Given the description of an element on the screen output the (x, y) to click on. 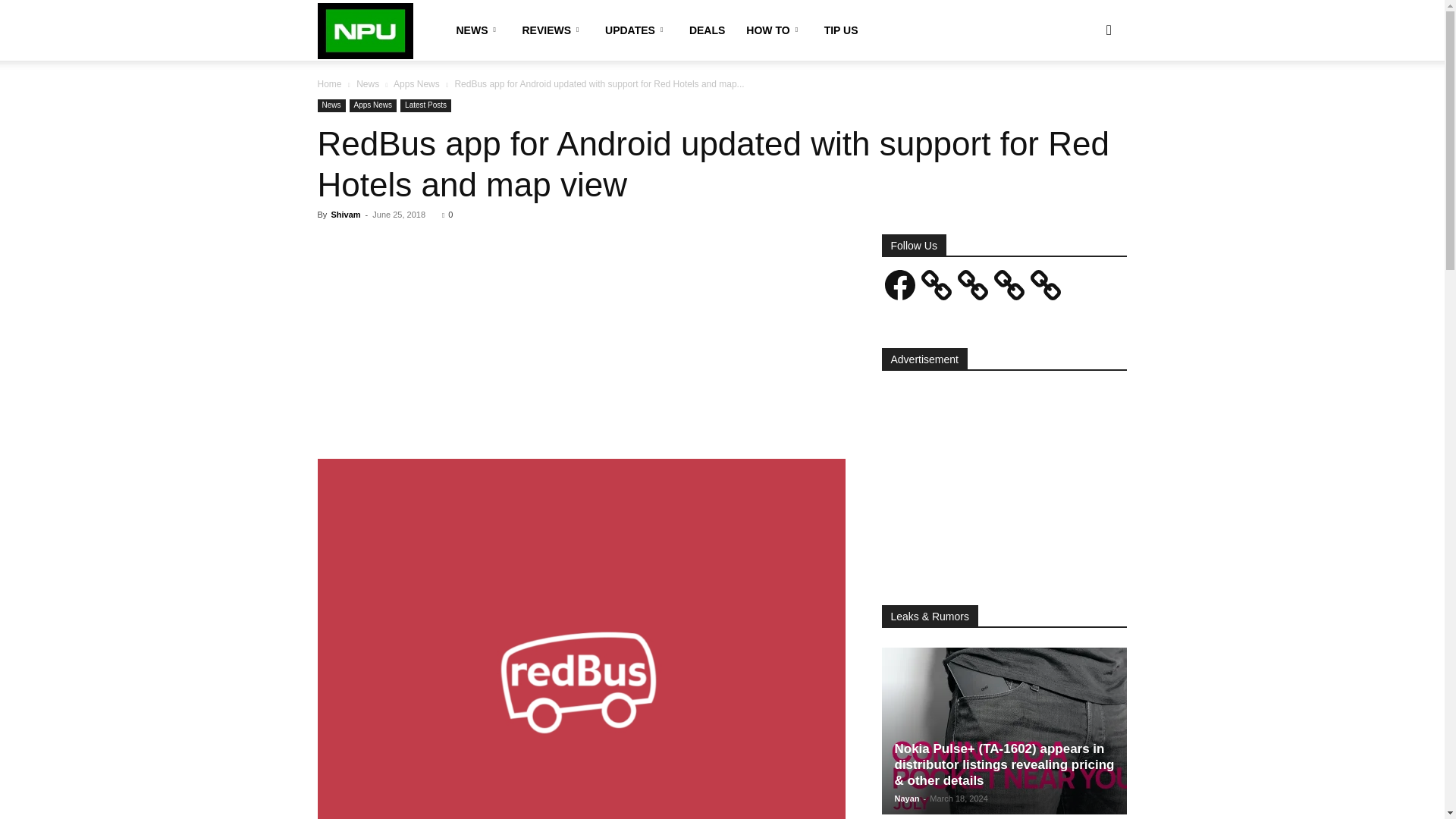
NEWS (478, 30)
UPDATES (636, 30)
View all posts in Apps News (416, 83)
REVIEWS (552, 30)
Nokiapoweruser (365, 30)
HOW TO (773, 30)
Nokiapoweruser logo (365, 30)
Advertisement (580, 346)
DEALS (706, 30)
View all posts in News (367, 83)
Search (1085, 102)
